Given the description of an element on the screen output the (x, y) to click on. 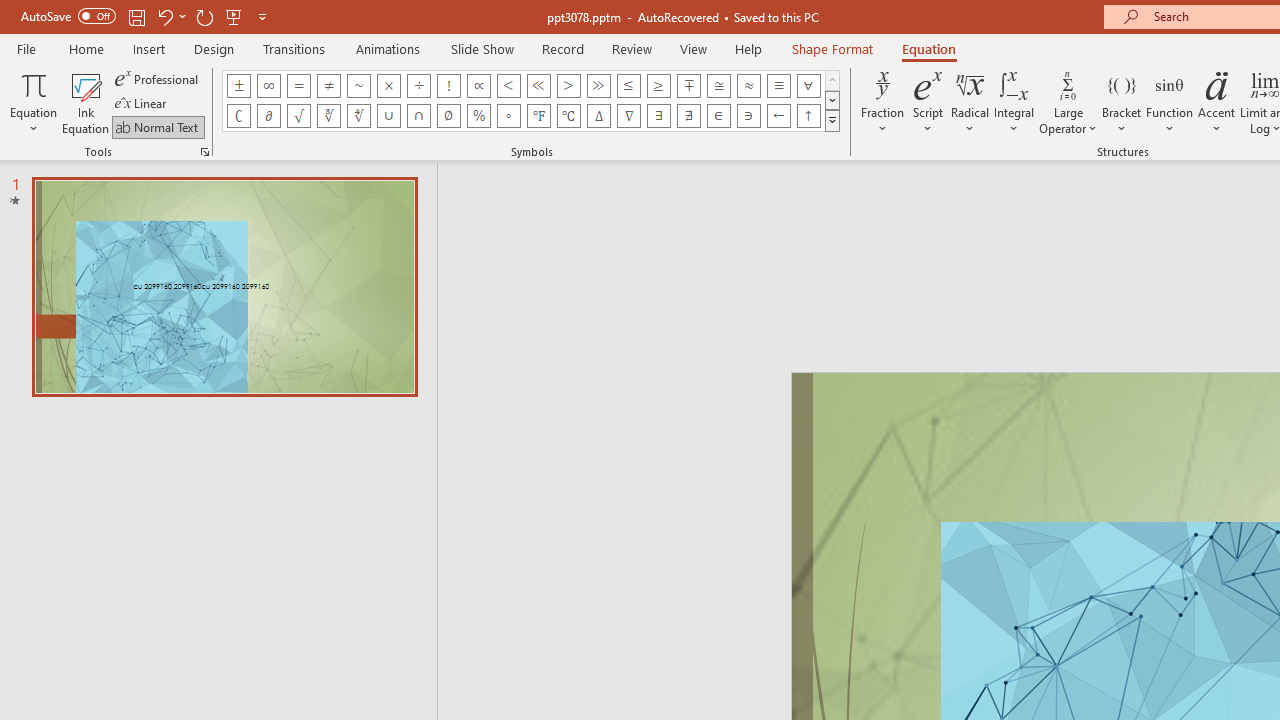
Shape Format (832, 48)
Equation Symbol Almost Equal To (Asymptotic To) (748, 85)
Equation Symbol Much Less Than (538, 85)
Equation Symbol Radical Sign (298, 115)
Equation Symbol Degrees Fahrenheit (538, 115)
Equation Symbol Not Equal To (328, 85)
Ink Equation (86, 102)
Equation Symbol Proportional To (478, 85)
Equation Symbol Approximately Equal To (718, 85)
